Given the description of an element on the screen output the (x, y) to click on. 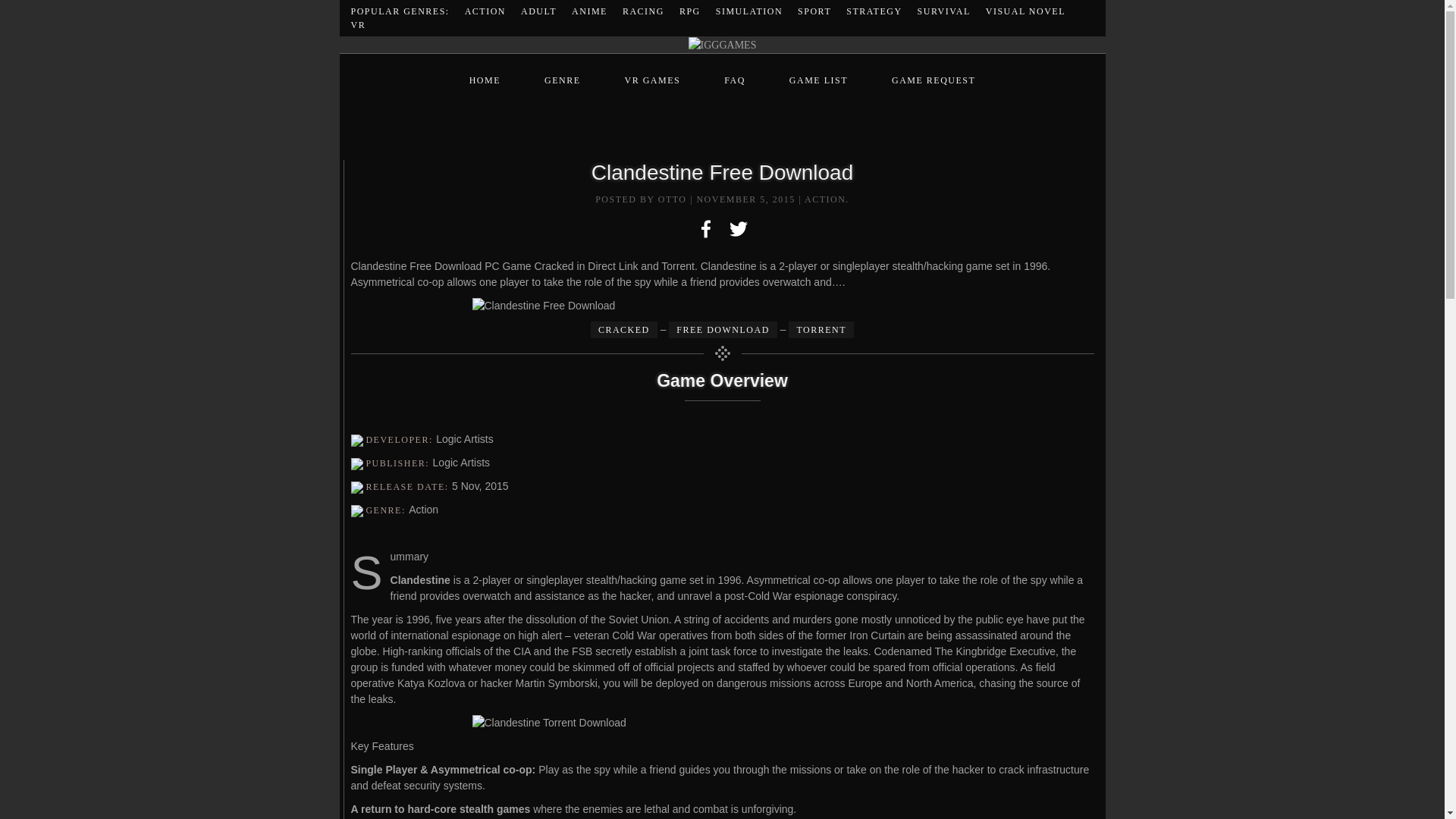
Clandestine Torrent Download (721, 722)
POPULAR GENRES: (399, 11)
Clandestine Free Download (721, 305)
